Given the description of an element on the screen output the (x, y) to click on. 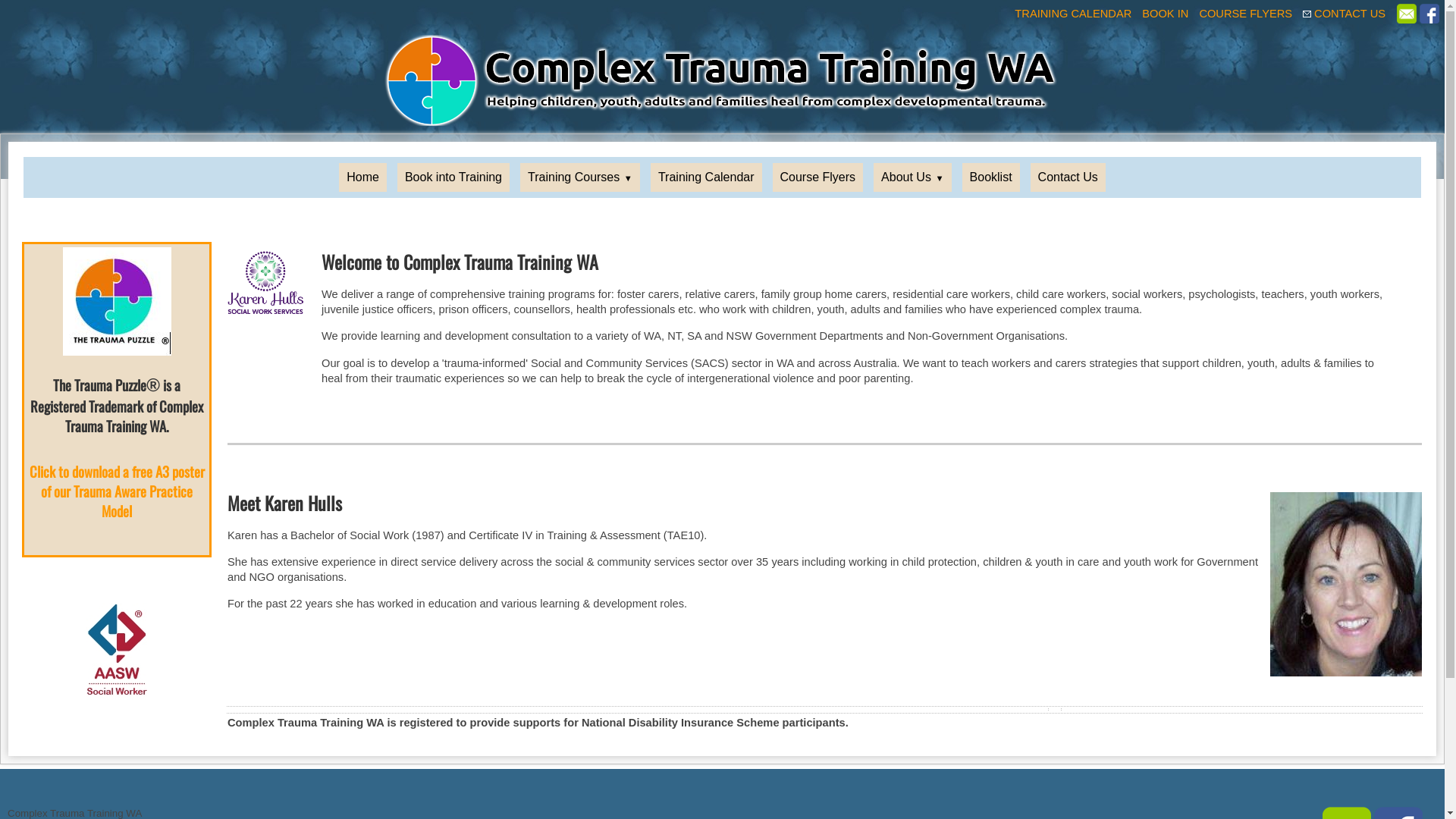
Training Calendar Element type: text (706, 177)
TRAINING CALENDAR Element type: text (1073, 13)
Book into Training Element type: text (453, 177)
About Us Element type: text (911, 177)
Home Element type: text (362, 177)
Booklist Element type: text (990, 177)
CONTACT US Element type: text (1350, 13)
BOOK IN Element type: text (1165, 13)
COURSE FLYERS Element type: text (1245, 13)
Contact Us Element type: text (1067, 177)
Training Courses Element type: text (580, 177)
Course Flyers Element type: text (817, 177)
